Given the description of an element on the screen output the (x, y) to click on. 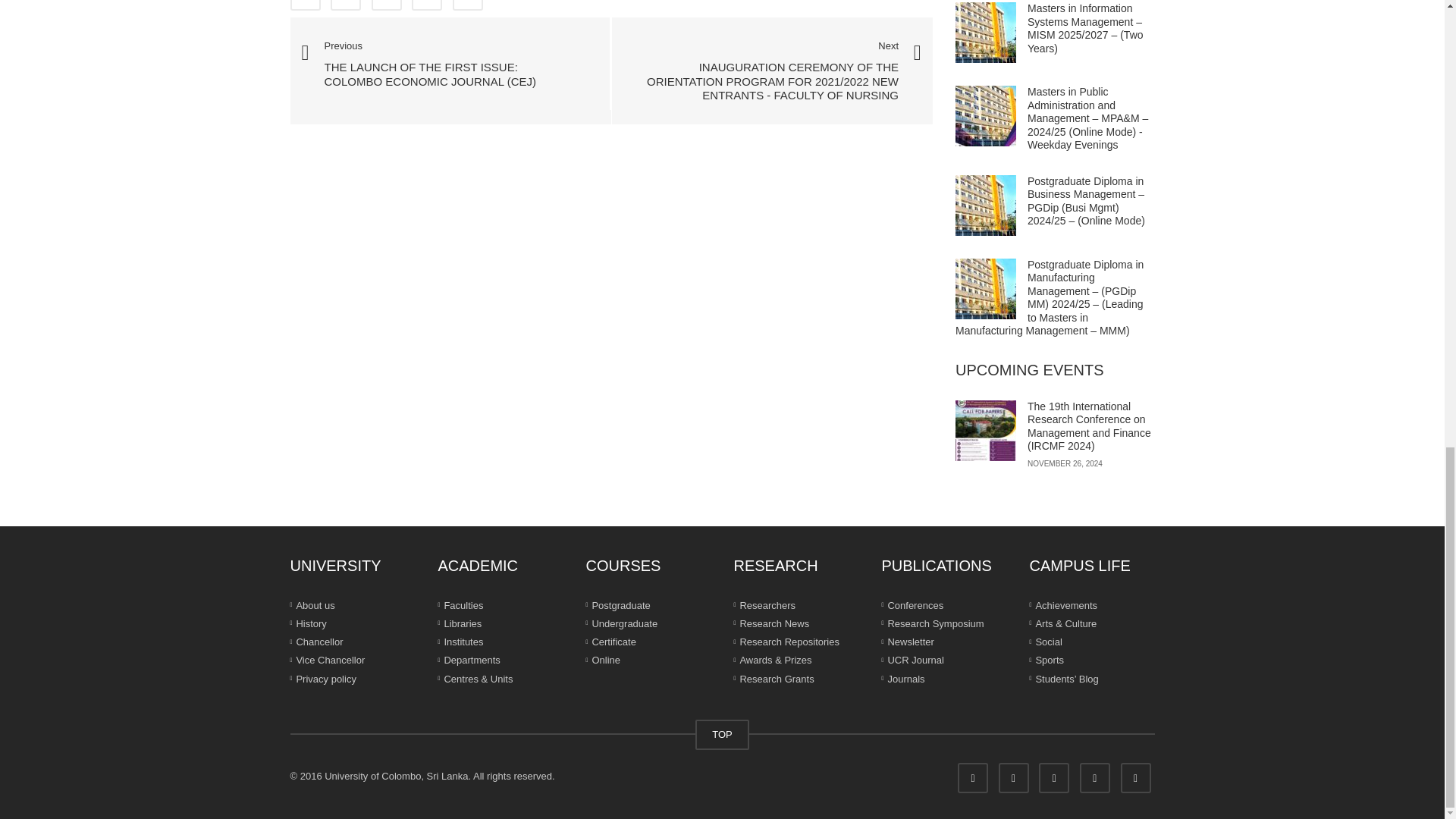
Email this (467, 5)
Share on Twitter (345, 5)
Share on Facebook (304, 5)
Share on Google Plus (427, 5)
Share on LinkedIn (386, 5)
